Given the description of an element on the screen output the (x, y) to click on. 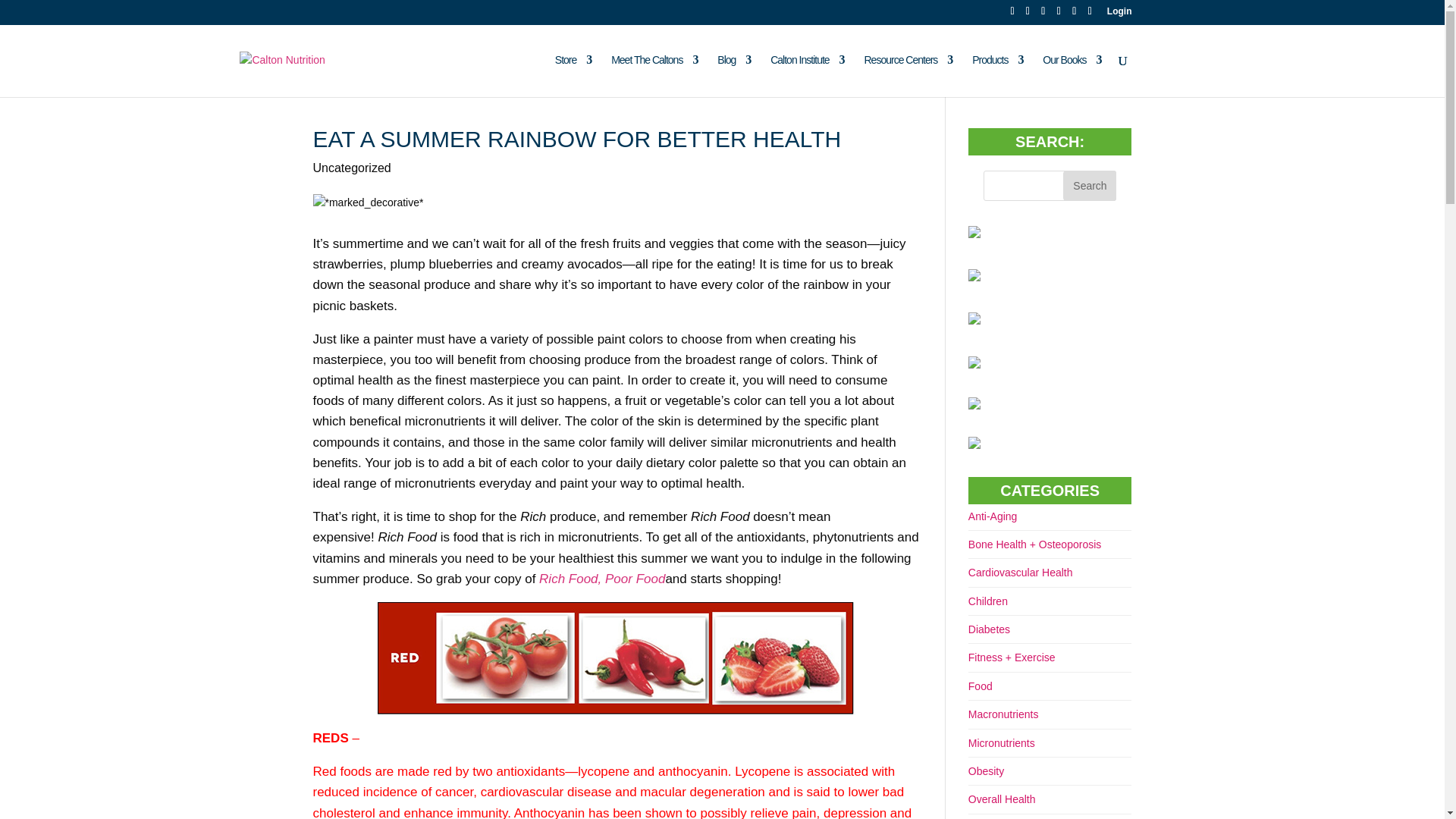
Products (997, 75)
Calton Institute (807, 75)
Login (1119, 14)
Meet The Caltons (654, 75)
Resource Centers (908, 75)
Search (1089, 185)
